Given the description of an element on the screen output the (x, y) to click on. 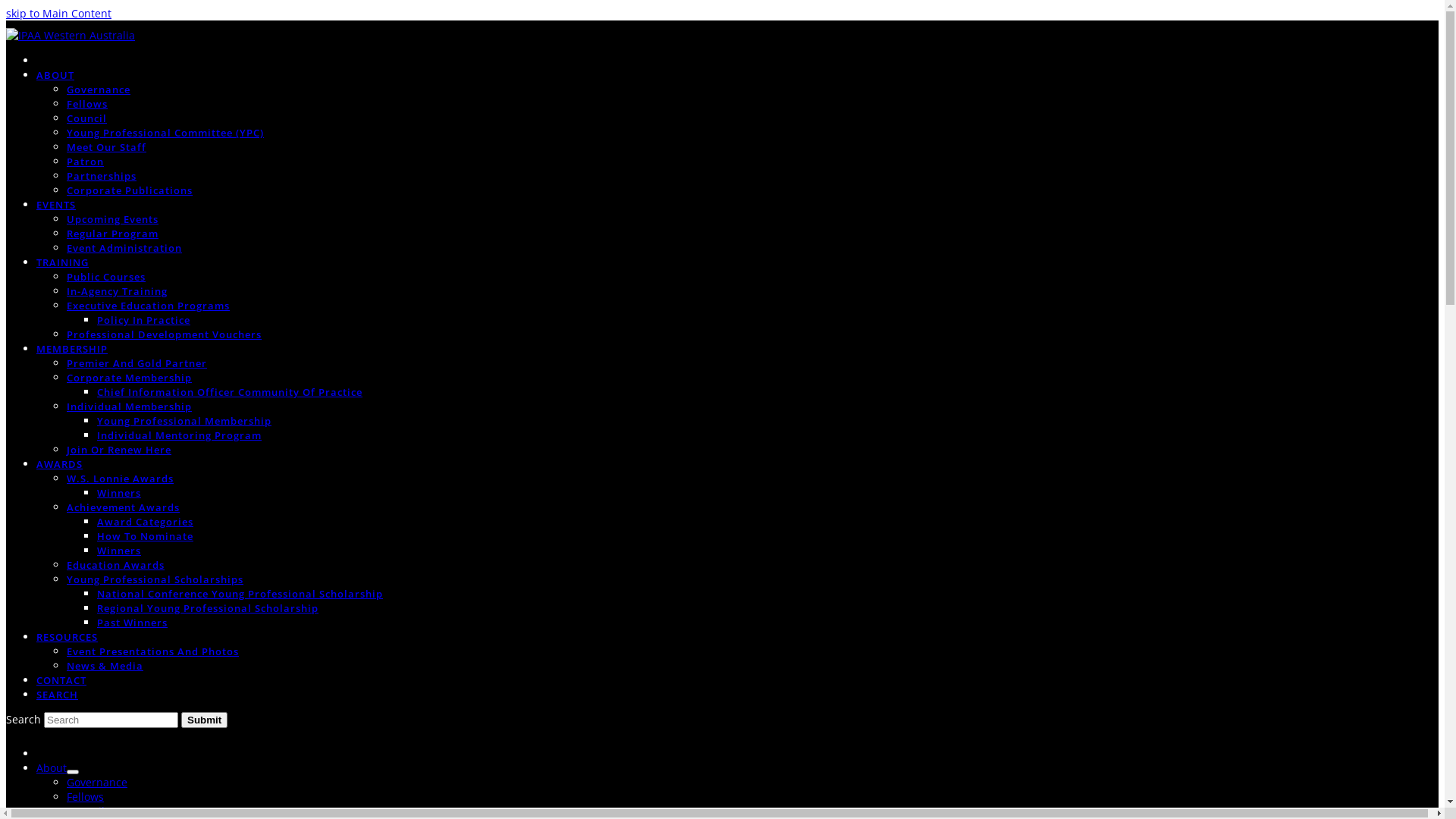
Corporate Publications Element type: text (129, 189)
Meet Our Staff Element type: text (106, 146)
Corporate Membership Element type: text (128, 377)
Governance Element type: text (98, 88)
Individual Membership Element type: text (128, 405)
Chief Information Officer Community Of Practice Element type: text (229, 391)
Achievement Awards Element type: text (122, 506)
Governance Element type: text (96, 782)
W.S. Lonnie Awards Element type: text (119, 477)
Winners Element type: text (119, 492)
EVENTS Element type: text (55, 204)
Professional Development Vouchers Element type: text (163, 333)
Executive Education Programs Element type: text (147, 305)
RESOURCES Element type: text (66, 636)
Submit Element type: text (204, 720)
Partnerships Element type: text (101, 175)
Policy In Practice Element type: text (143, 319)
Fellows Element type: text (84, 796)
National Conference Young Professional Scholarship Element type: text (239, 593)
Fellows Element type: text (86, 103)
SEARCH Element type: text (57, 694)
Past Winners Element type: text (132, 622)
Premier And Gold Partner Element type: text (136, 362)
Regular Program Element type: text (112, 232)
Event Administration Element type: text (124, 247)
Individual Mentoring Program Element type: text (179, 434)
skip to Main Content Element type: text (58, 13)
Patron Element type: text (84, 160)
Upcoming Events Element type: text (112, 218)
Regional Young Professional Scholarship Element type: text (207, 607)
ABOUT Element type: text (55, 74)
Join Or Renew Here Element type: text (118, 449)
Young Professional Membership Element type: text (184, 420)
Event Presentations And Photos Element type: text (152, 650)
MEMBERSHIP Element type: text (71, 348)
In-Agency Training Element type: text (116, 290)
TRAINING Element type: text (62, 261)
Award Categories Element type: text (145, 521)
Council Element type: text (86, 117)
Winners Element type: text (119, 549)
Council Element type: text (85, 810)
Public Courses Element type: text (105, 276)
News & Media Element type: text (104, 665)
Young Professional Committee (YPC) Element type: text (164, 132)
About Element type: text (51, 767)
CONTACT Element type: text (61, 679)
Education Awards Element type: text (115, 564)
AWARDS Element type: text (59, 463)
How To Nominate Element type: text (145, 535)
Young Professional Scholarships Element type: text (154, 578)
